Given the description of an element on the screen output the (x, y) to click on. 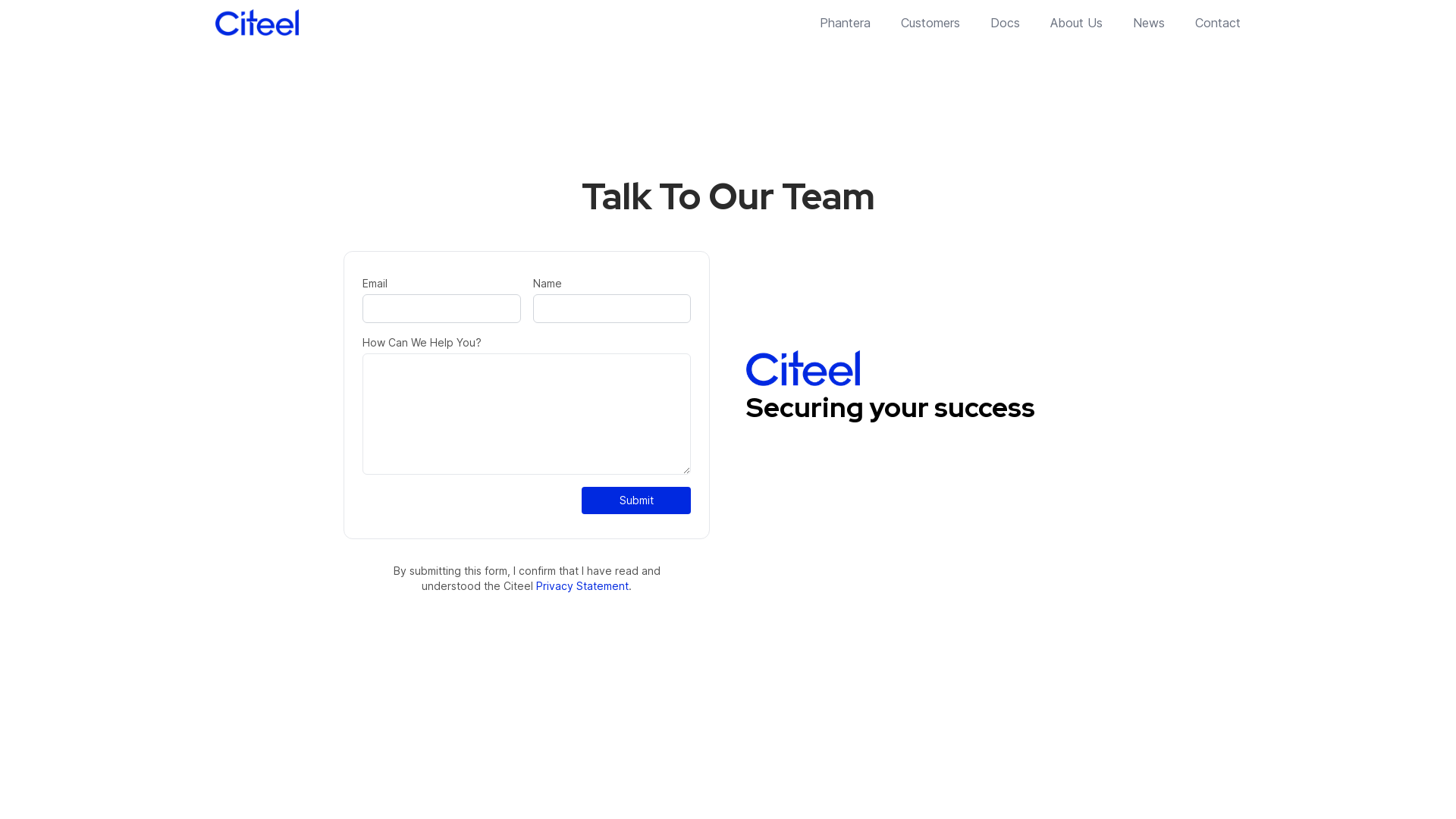
Submit Element type: text (635, 500)
About Us Element type: text (1076, 22)
Contact Element type: text (1217, 22)
Phantera Element type: text (844, 22)
Privacy Statement Element type: text (582, 585)
Customers Element type: text (930, 22)
Docs Element type: text (1004, 22)
News Element type: text (1148, 22)
